Given the description of an element on the screen output the (x, y) to click on. 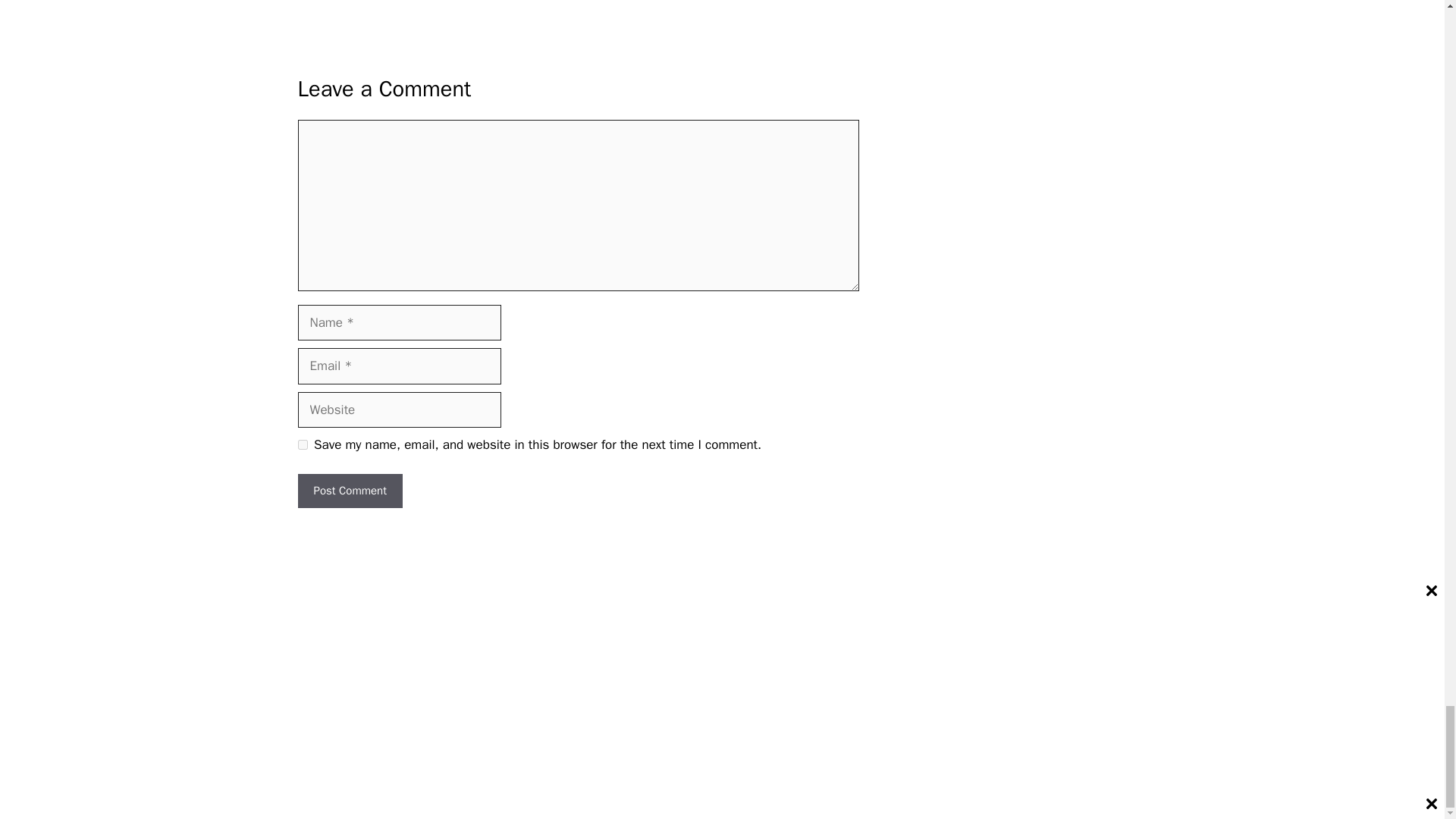
GeneratePress (377, 698)
yes (302, 444)
Post Comment (349, 490)
Post Comment (349, 490)
